Given the description of an element on the screen output the (x, y) to click on. 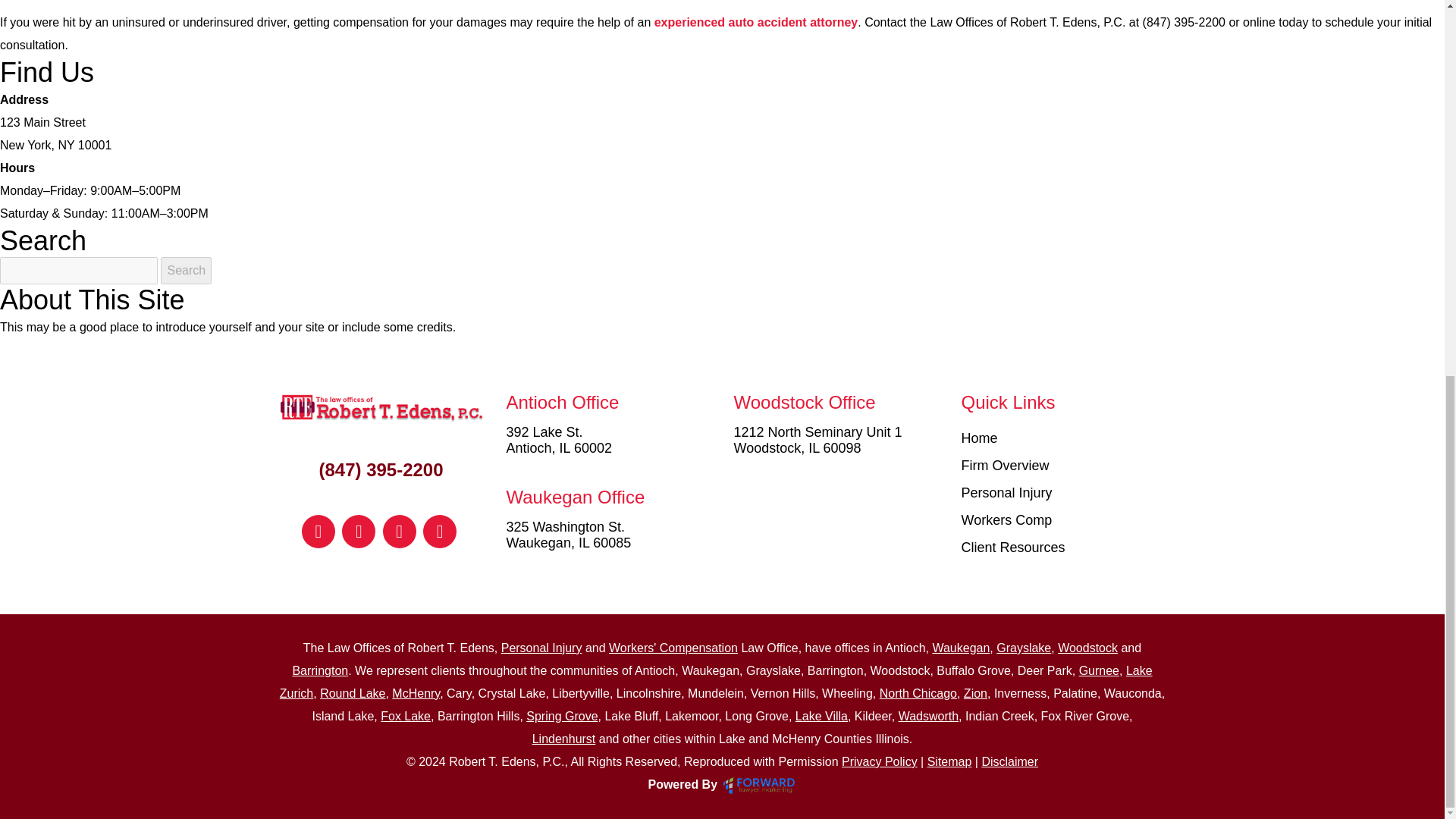
Search (185, 270)
experienced auto accident attorney (756, 21)
Search (185, 270)
